Given the description of an element on the screen output the (x, y) to click on. 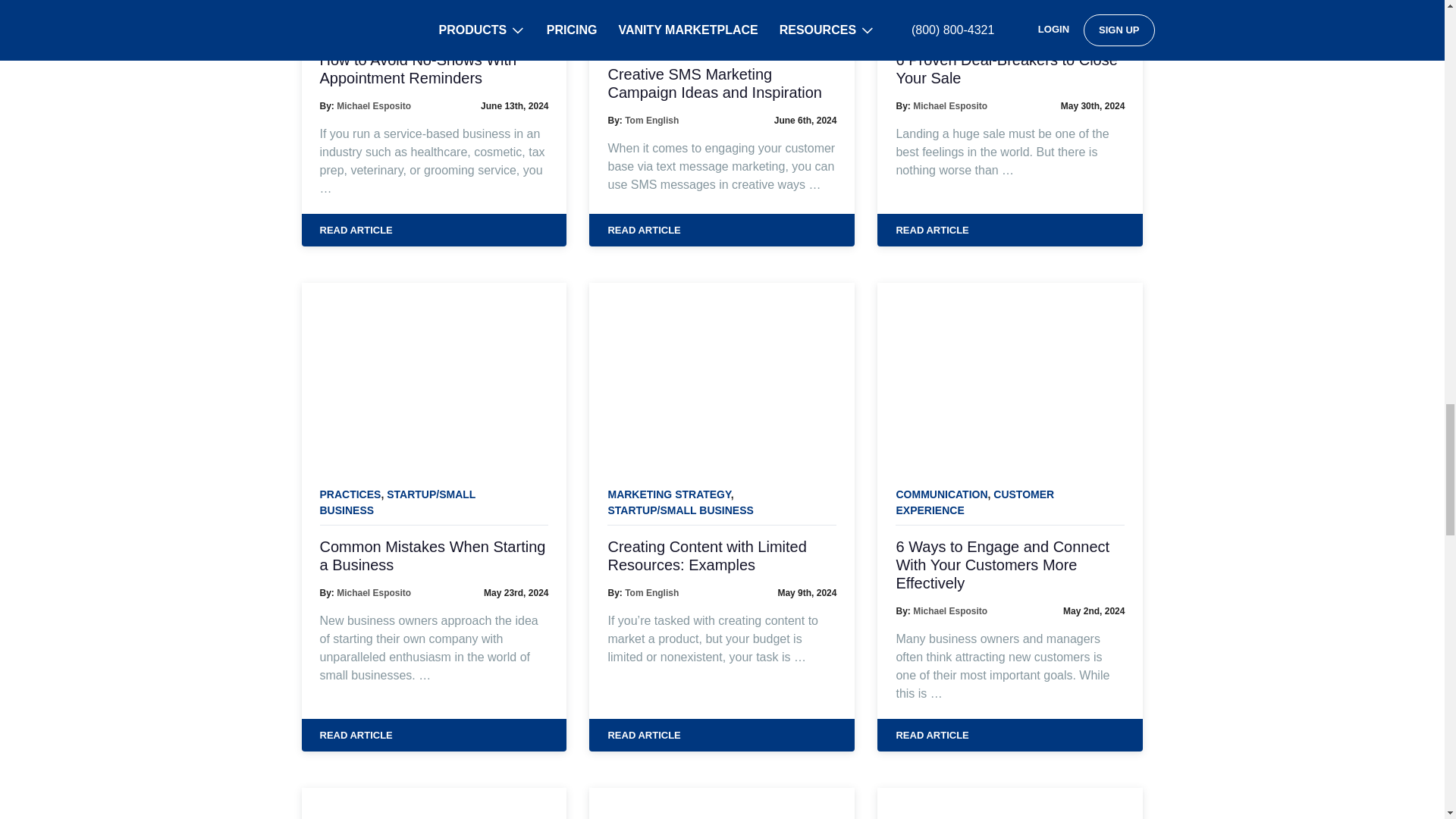
Posts by Tom English (651, 593)
SMS MARKETING (660, 29)
PRACTICES (350, 23)
Michael Esposito (373, 105)
Posts by Michael Esposito (949, 611)
Posts by Michael Esposito (373, 105)
PRODUCTIVITY (646, 21)
Posts by Michael Esposito (949, 105)
How to Avoid No-Shows With Appointment Reminders (434, 68)
Posts by Tom English (651, 120)
SMS MARKETING (432, 23)
READ ARTICLE (434, 230)
Posts by Michael Esposito (373, 593)
